Given the description of an element on the screen output the (x, y) to click on. 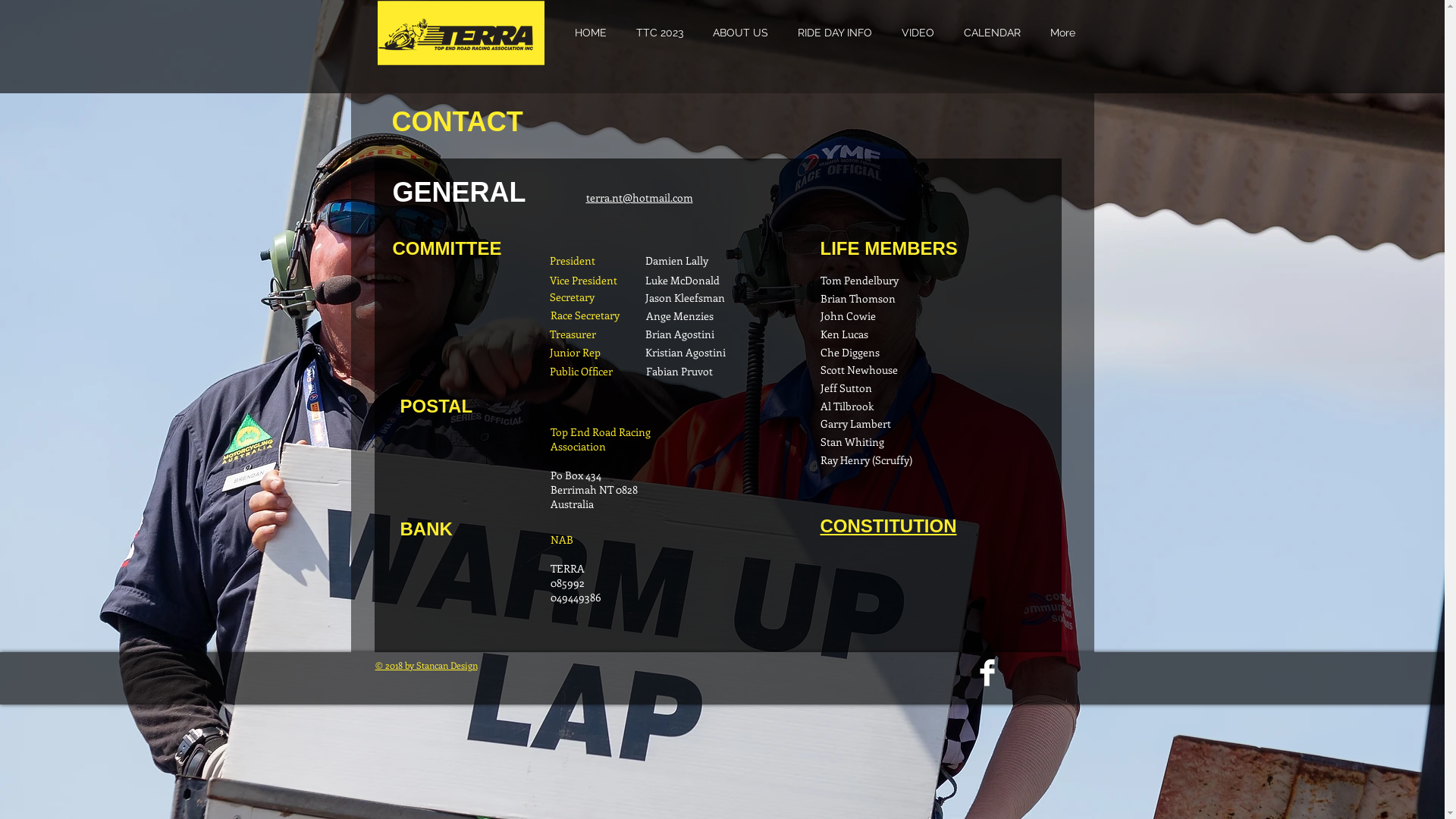
VIDEO Element type: text (918, 32)
terra.nt@hotmail.com Element type: text (638, 197)
TTC 2023 Element type: text (659, 32)
CONSTITUTION Element type: text (888, 525)
HOME Element type: text (590, 32)
ABOUT US Element type: text (739, 32)
CALENDAR Element type: text (992, 32)
RIDE DAY INFO Element type: text (834, 32)
